Given the description of an element on the screen output the (x, y) to click on. 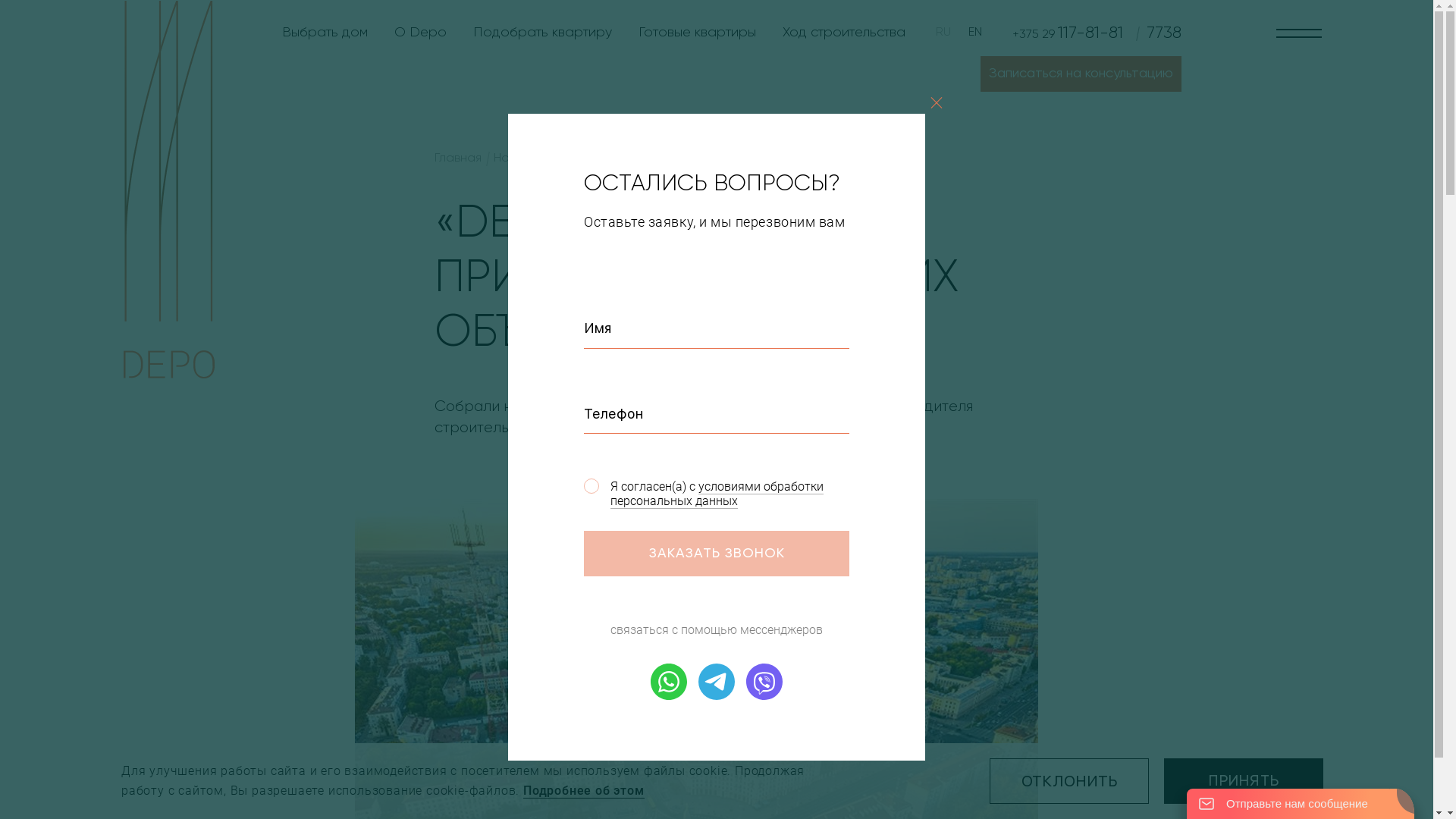
7738 Element type: text (1153, 33)
+375 29 117-81-81 Element type: text (1067, 33)
RU
EN Element type: text (958, 31)
